Given the description of an element on the screen output the (x, y) to click on. 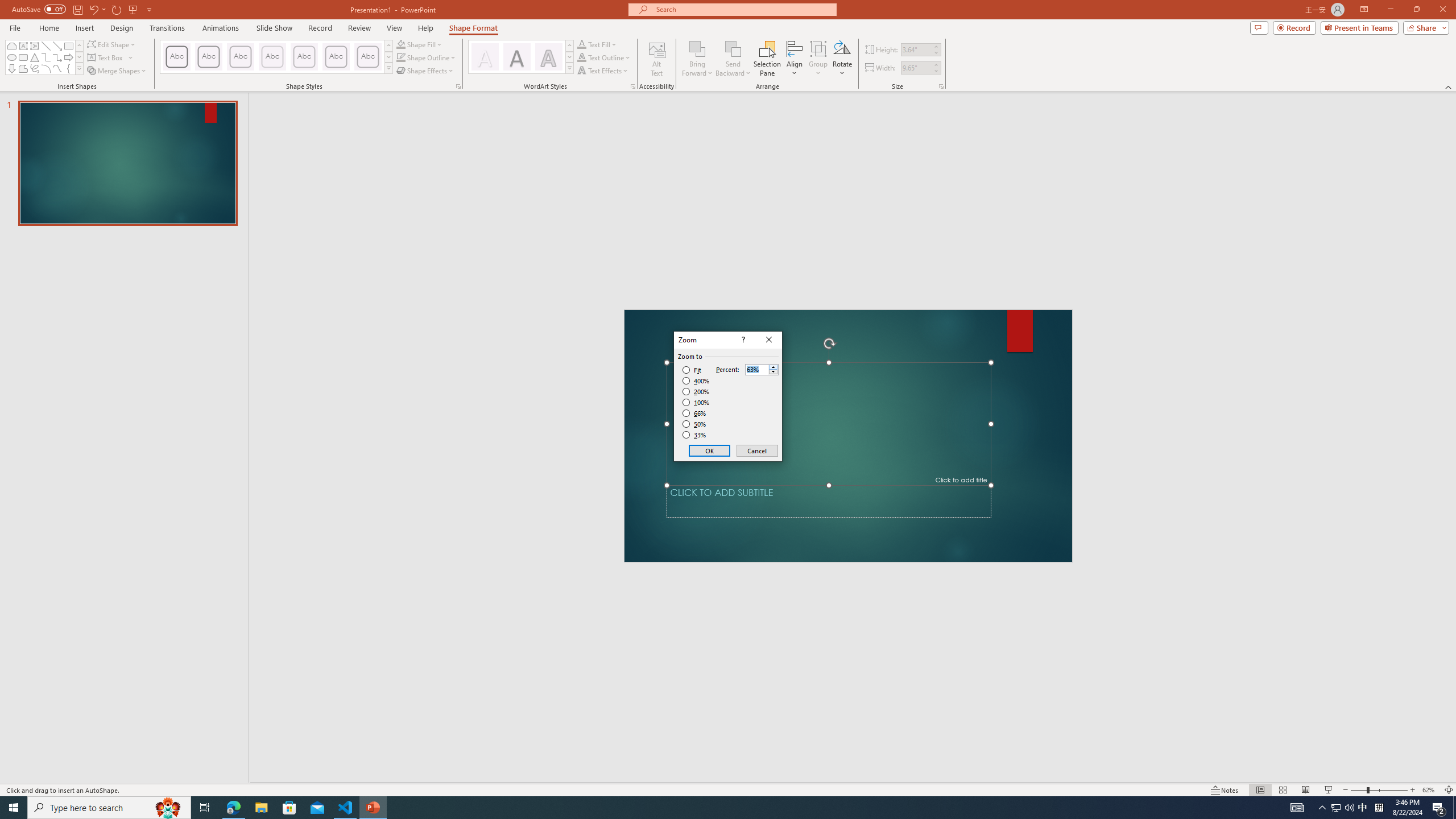
Text Effects (603, 69)
Rectangle: Top Corners Snipped (11, 45)
Less (772, 372)
